Given the description of an element on the screen output the (x, y) to click on. 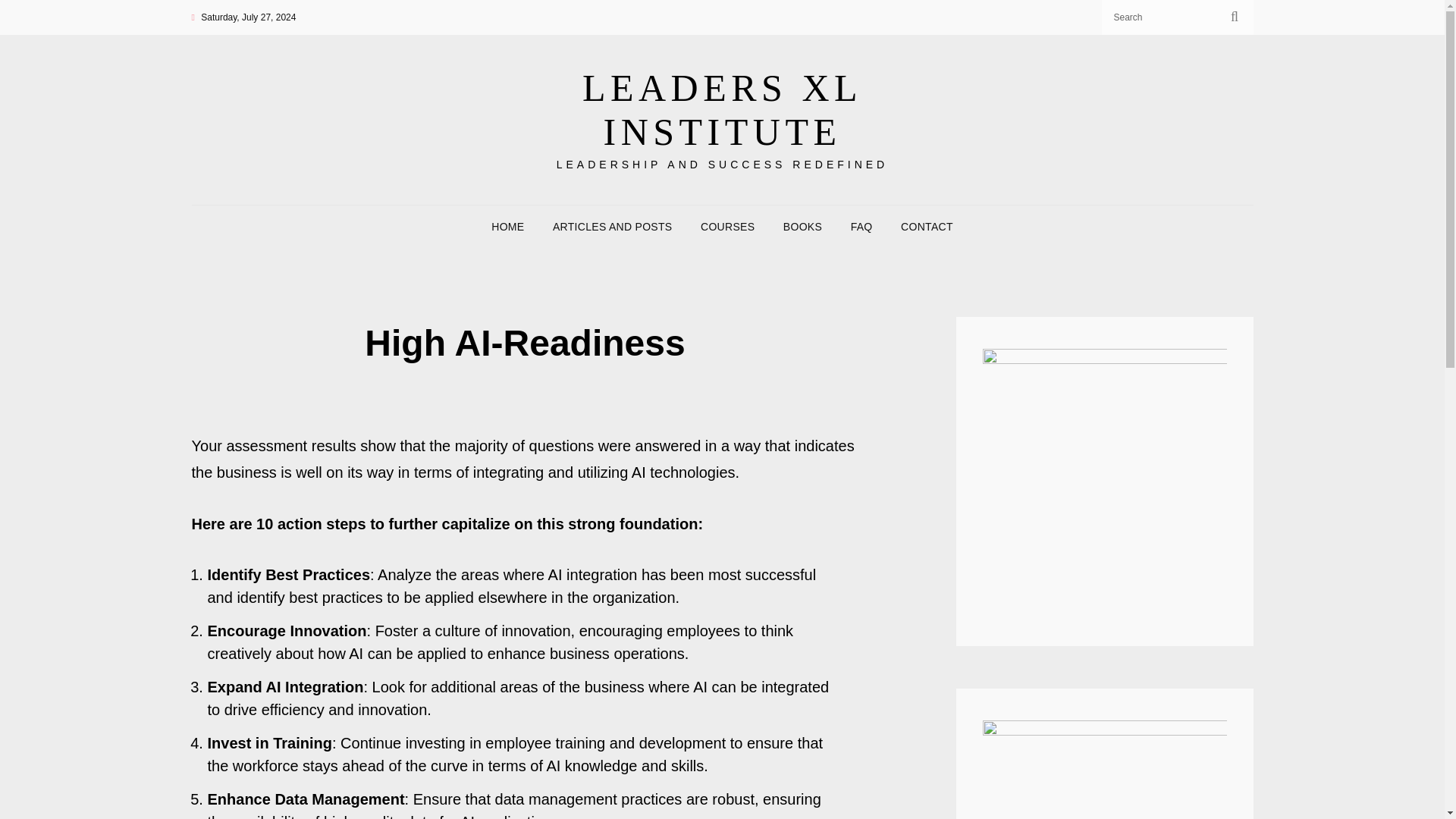
HOME (507, 226)
LEADERS XL INSTITUTE (721, 109)
CONTACT (926, 226)
COURSES (727, 226)
Search (1234, 17)
FAQ (861, 226)
BOOKS (802, 226)
ARTICLES AND POSTS (612, 226)
